Given the description of an element on the screen output the (x, y) to click on. 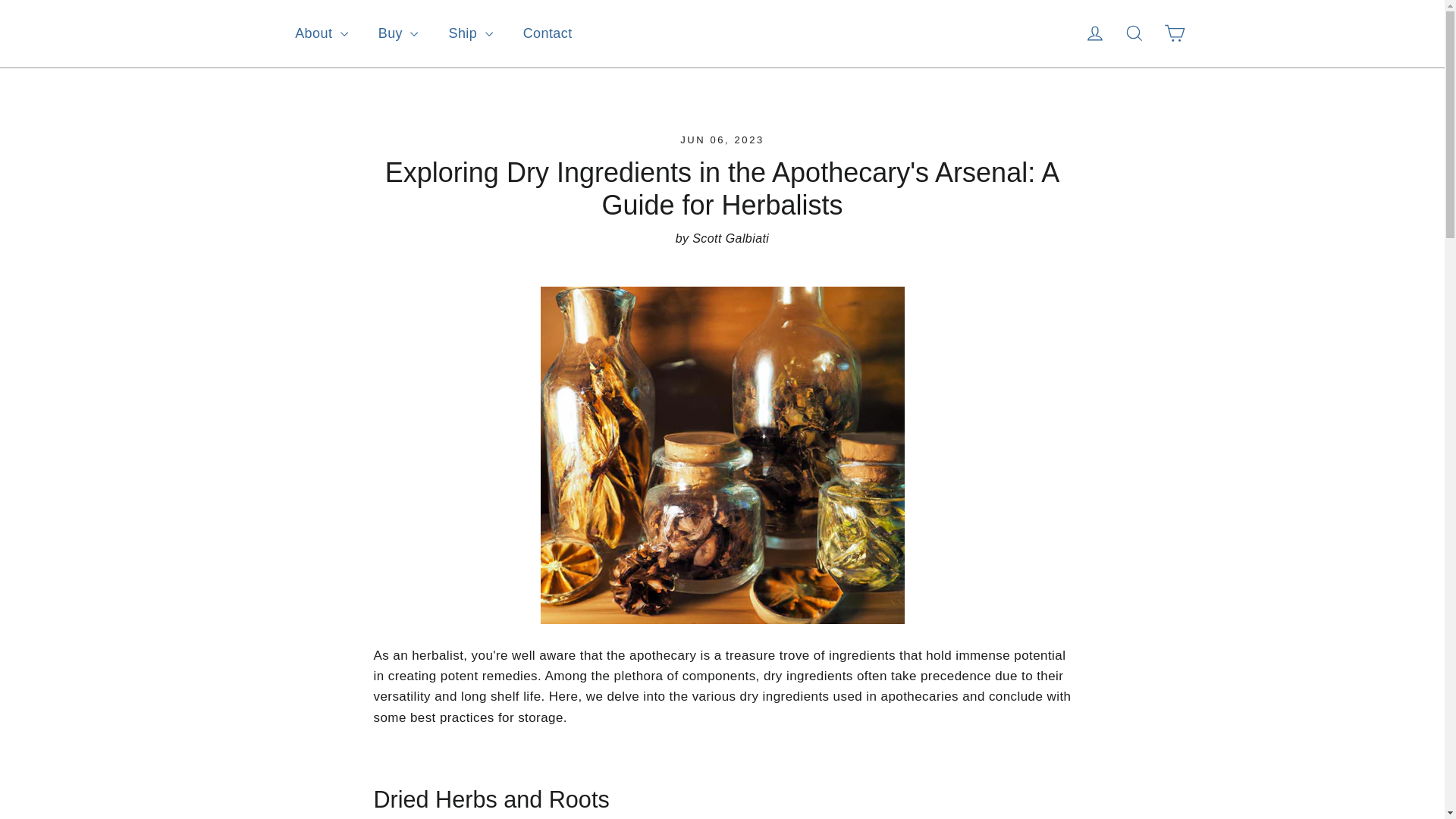
About (320, 33)
